Given the description of an element on the screen output the (x, y) to click on. 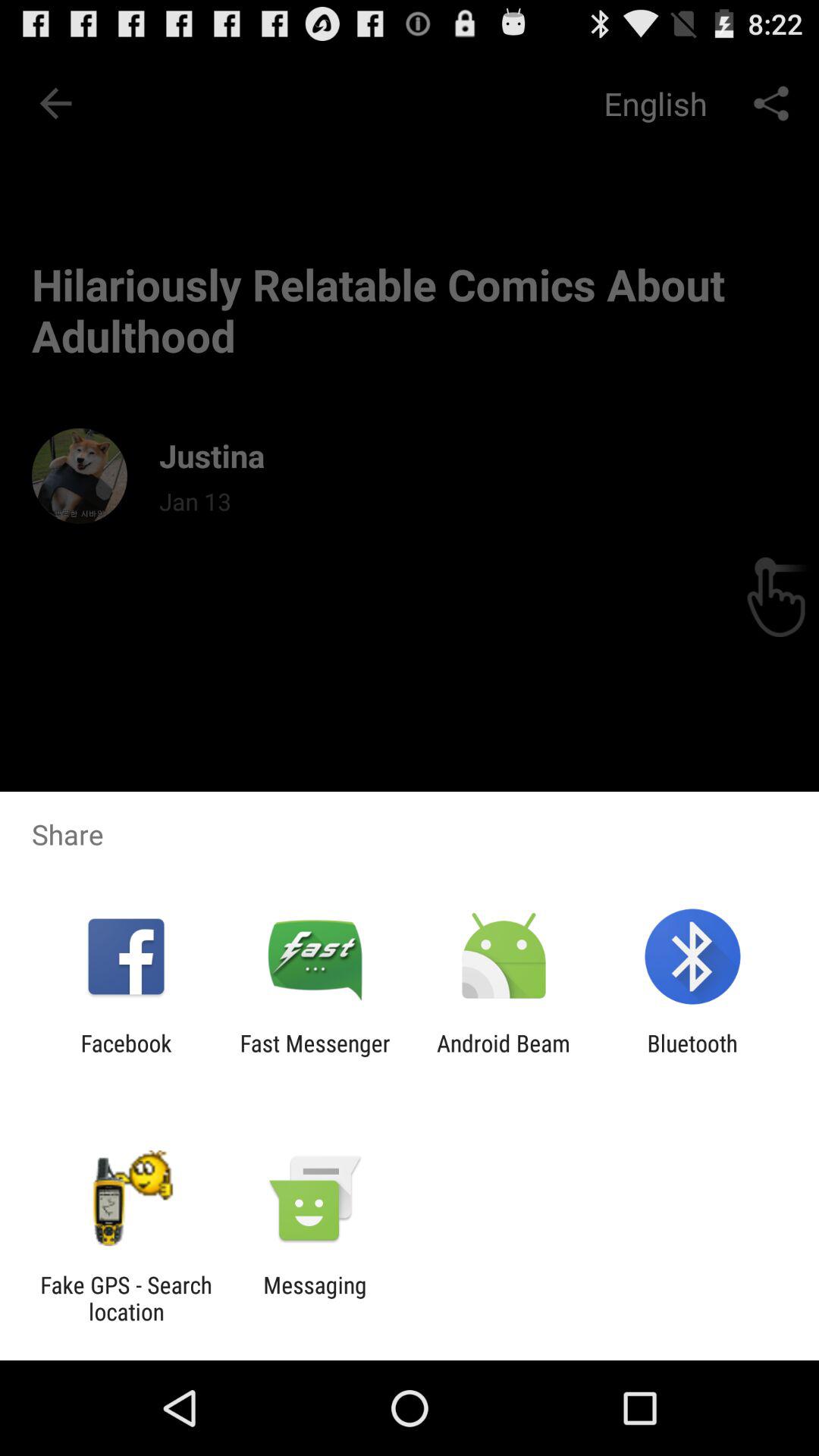
turn off bluetooth item (692, 1056)
